Given the description of an element on the screen output the (x, y) to click on. 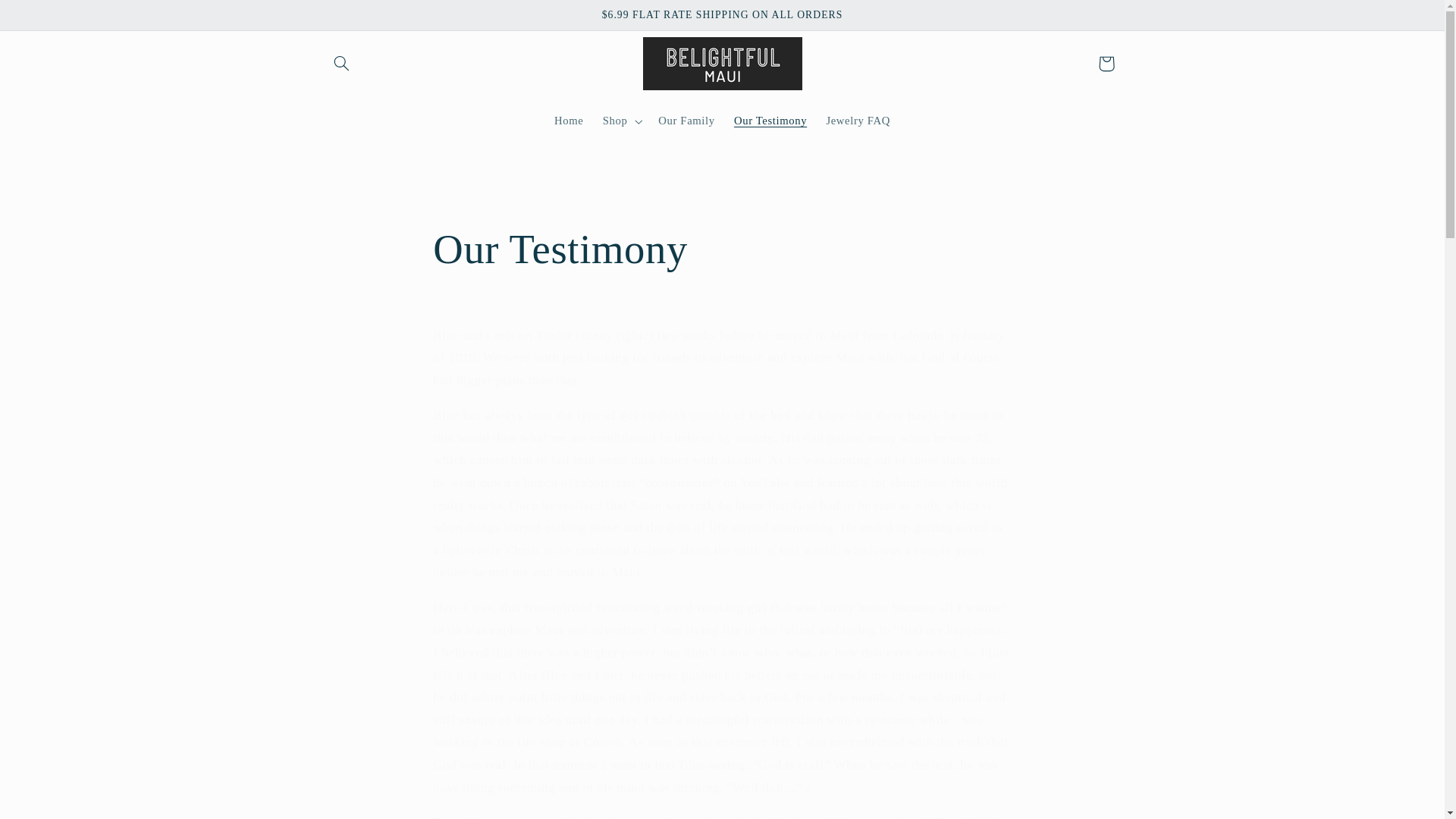
Cart (1106, 63)
Our Family (687, 121)
Jewelry FAQ (857, 121)
Home (568, 121)
Our Testimony (769, 121)
Skip to content (48, 18)
Our Testimony (721, 249)
